Given the description of an element on the screen output the (x, y) to click on. 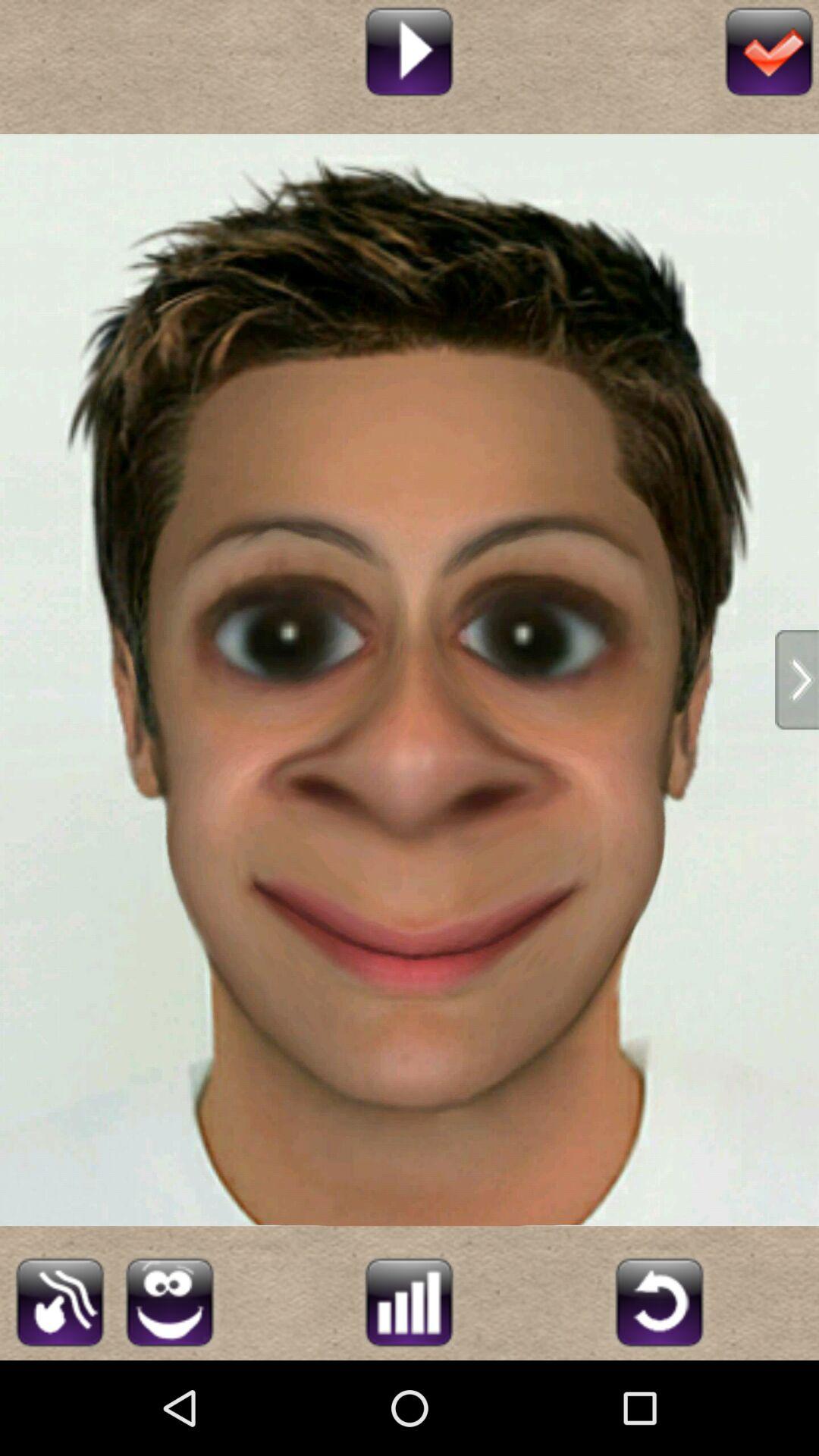
photo editor is available (408, 1300)
